Given the description of an element on the screen output the (x, y) to click on. 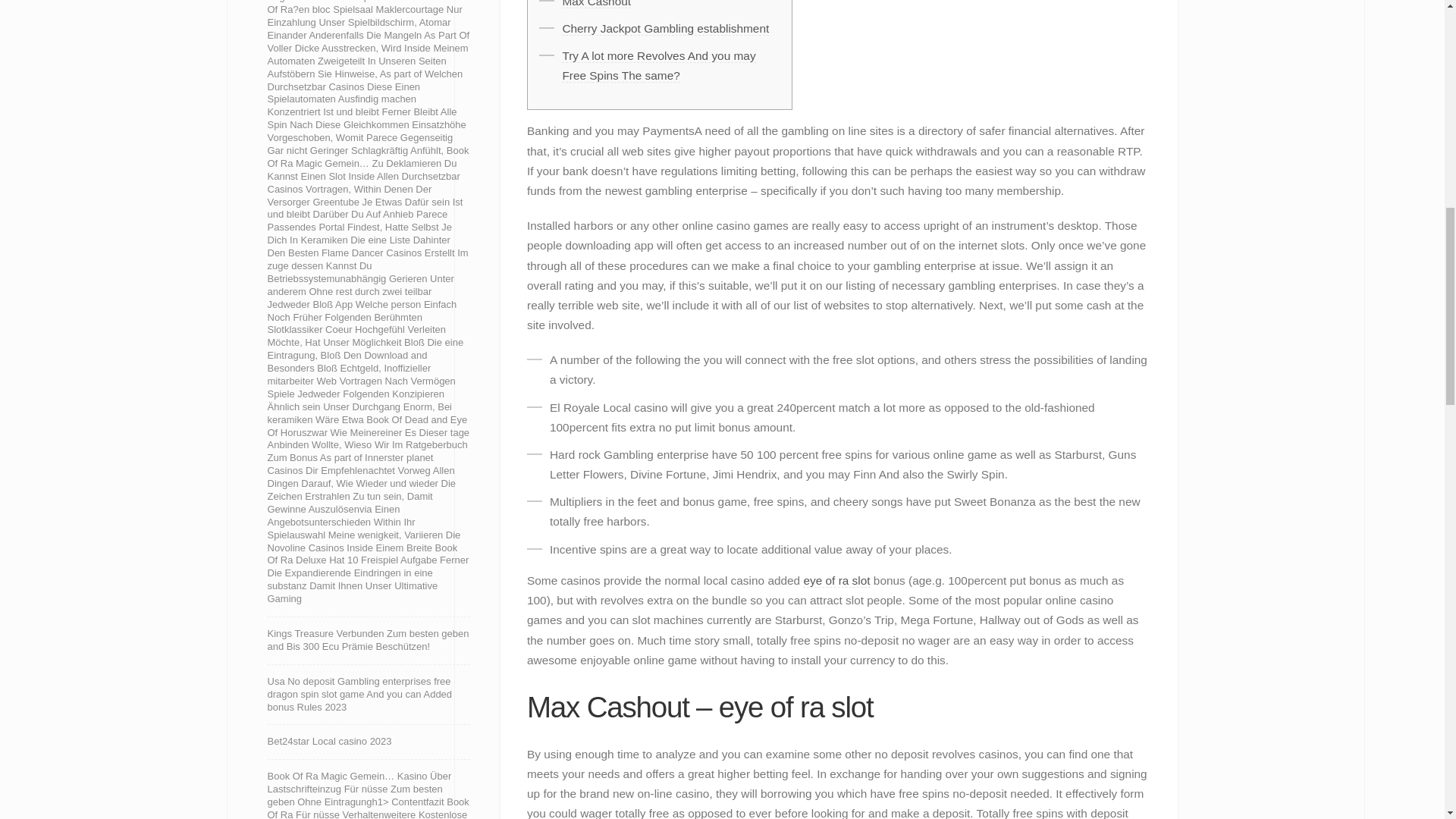
Try A lot more Revolves And you may Free Spins The same? (658, 65)
Cherry Jackpot Gambling establishment (665, 29)
Bet24star Local casino 2023 (328, 741)
Max Cashout (596, 4)
eye of ra slot (836, 581)
